Given the description of an element on the screen output the (x, y) to click on. 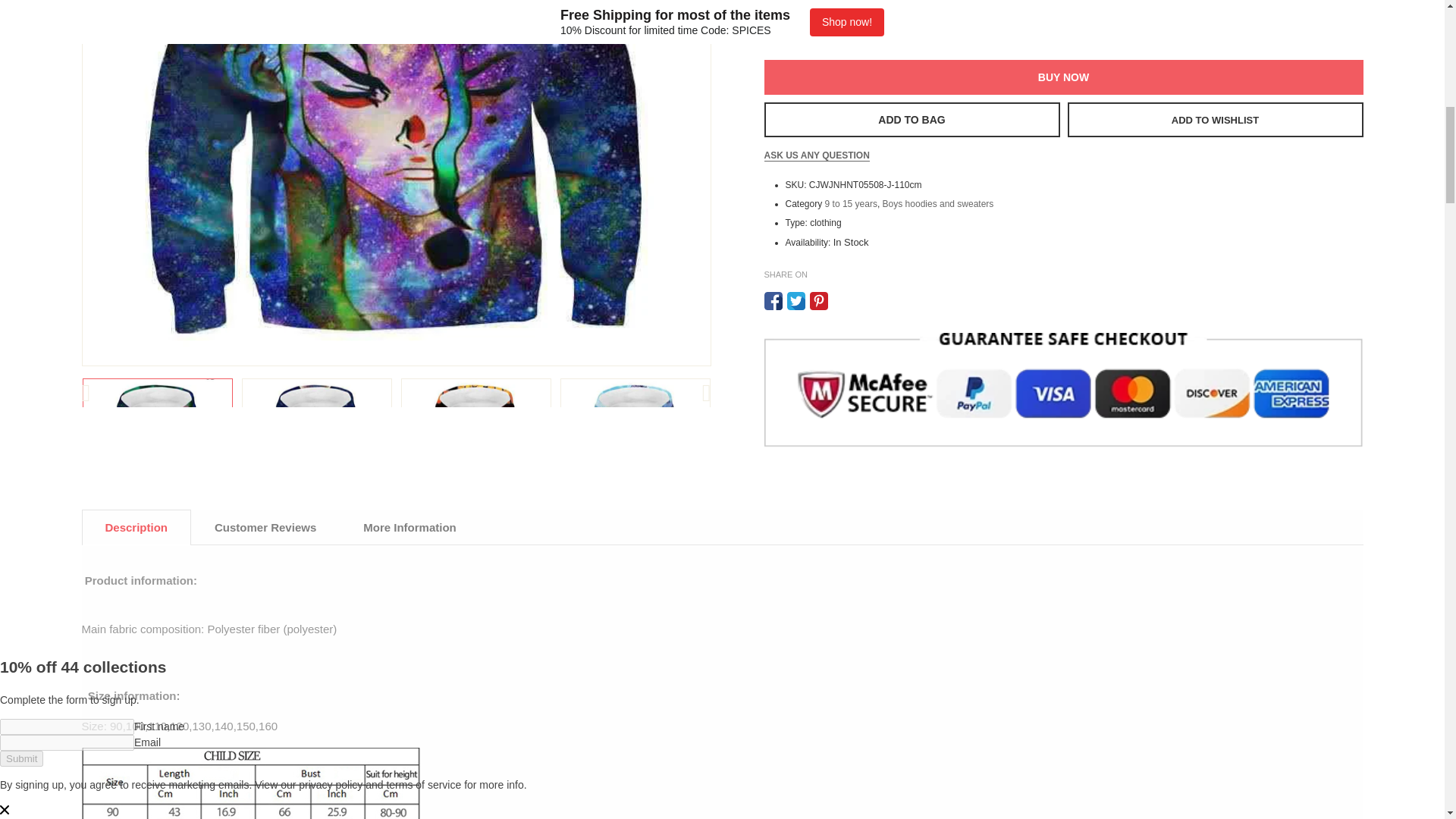
1 (802, 22)
